Given the description of an element on the screen output the (x, y) to click on. 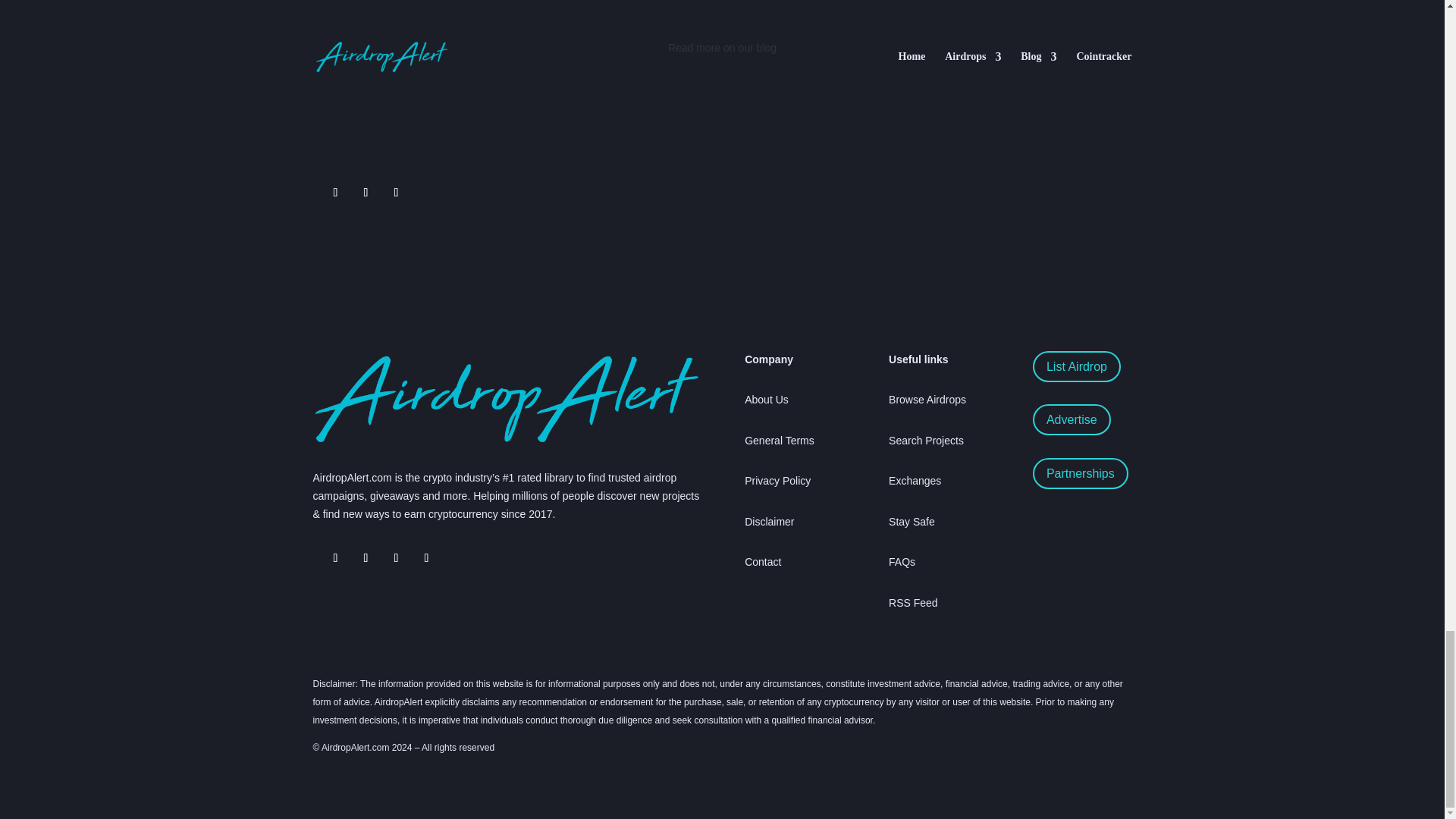
Follow on Telegram (365, 192)
Follow on X (365, 558)
Follow on Facebook (395, 192)
Follow on X (335, 192)
Follow on Youtube (456, 558)
Follow on Telegram (335, 558)
Follow on Facebook (395, 558)
airdrop-alert-logo (505, 398)
Follow on Instagram (425, 558)
